Given the description of an element on the screen output the (x, y) to click on. 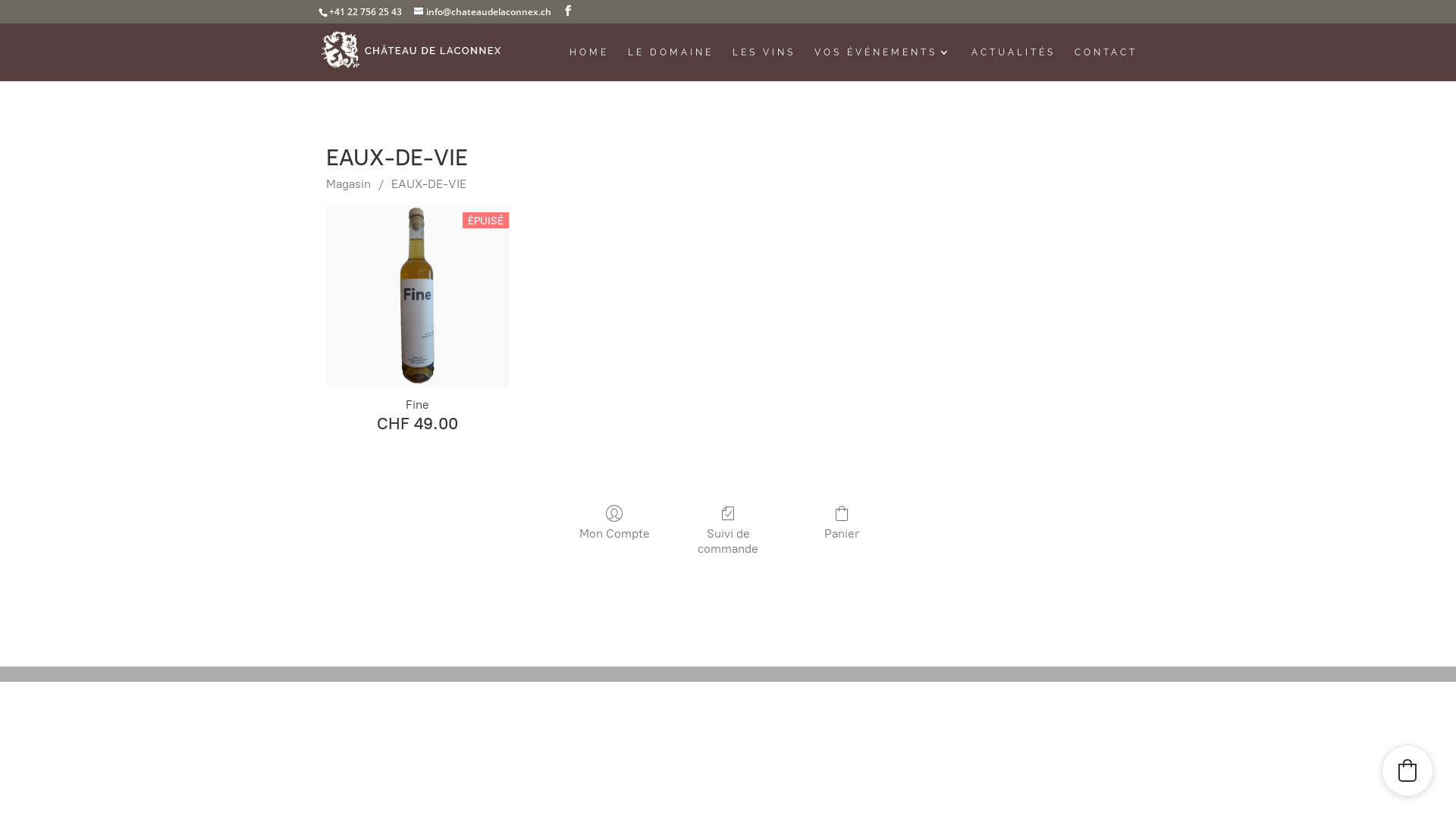
Mon Compte Element type: text (614, 522)
Panier Element type: text (841, 522)
HOME Element type: text (588, 64)
CONTACT Element type: text (1105, 64)
EAUX-DE-VIE Element type: text (428, 183)
info@chateaudelaconnex.ch Element type: text (482, 11)
Magasin Element type: text (348, 183)
LES VINS Element type: text (763, 64)
LE DOMAINE Element type: text (670, 64)
Suivi de commande Element type: text (727, 529)
Fine Element type: hover (417, 295)
Fine Element type: text (417, 405)
